Given the description of an element on the screen output the (x, y) to click on. 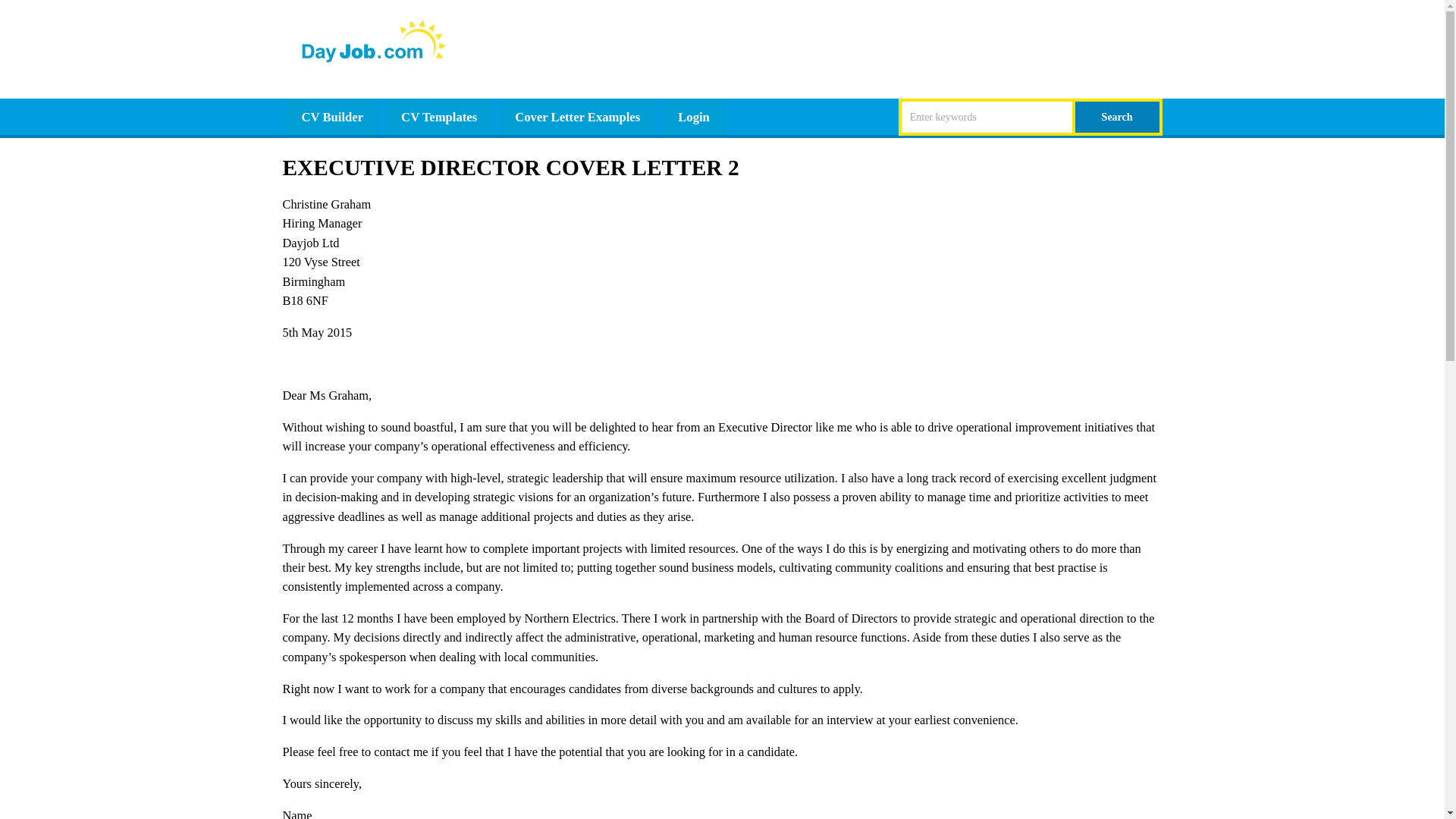
Search (1118, 116)
Search (1118, 116)
Advertisement (885, 49)
Cover Letter Examples (577, 116)
CV Templates (438, 116)
Search (1118, 116)
Login (693, 116)
CV Builder (332, 116)
